Given the description of an element on the screen output the (x, y) to click on. 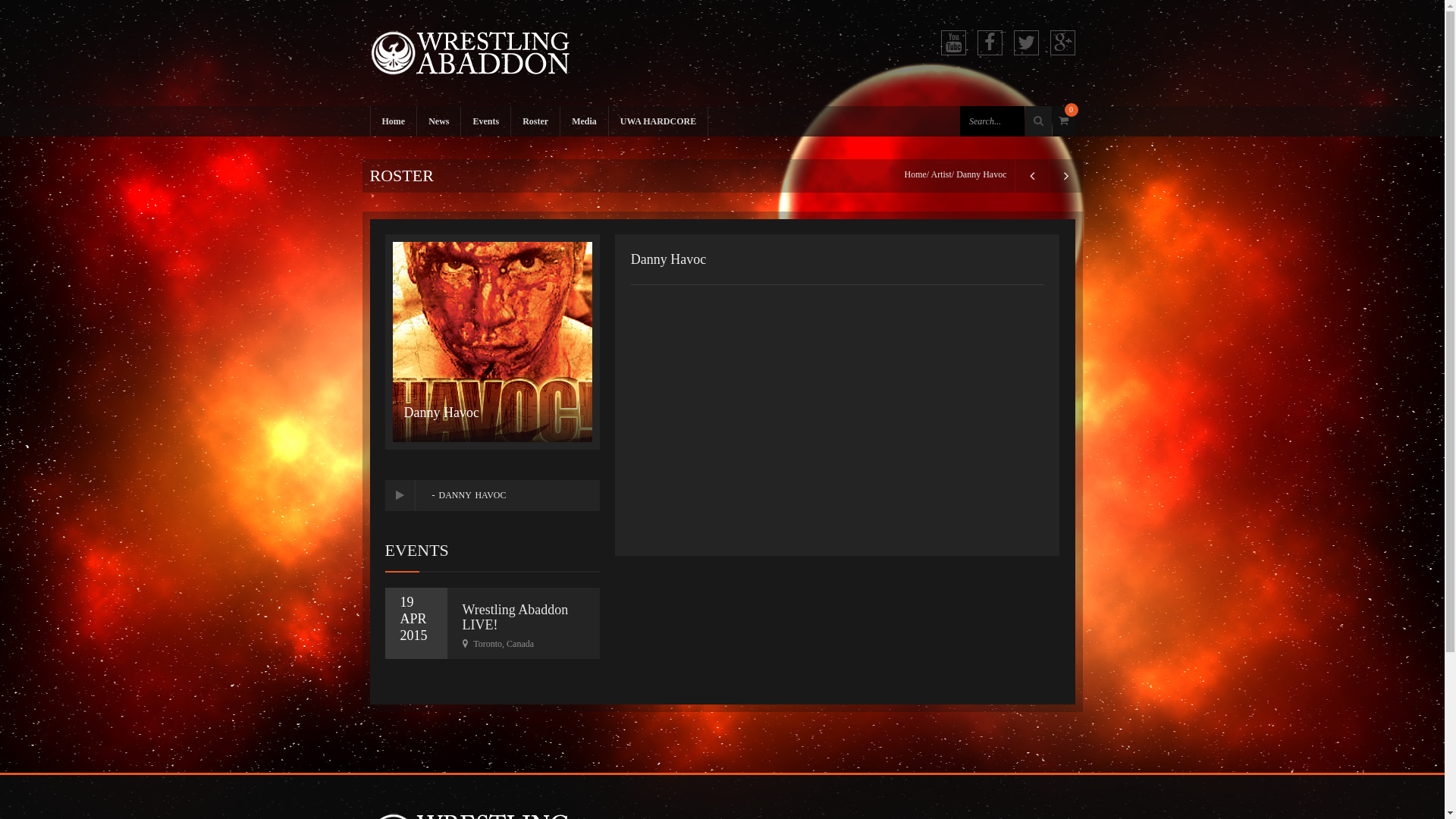
0 Element type: text (1063, 121)
Home Element type: text (393, 121)
Events Element type: text (485, 121)
Artist Element type: text (941, 174)
Roster Element type: text (534, 121)
Danny Havoc Element type: text (668, 258)
UWA HARDCORE Element type: text (658, 121)
News Element type: text (438, 121)
Media Element type: text (583, 121)
Home Element type: text (914, 174)
